Given the description of an element on the screen output the (x, y) to click on. 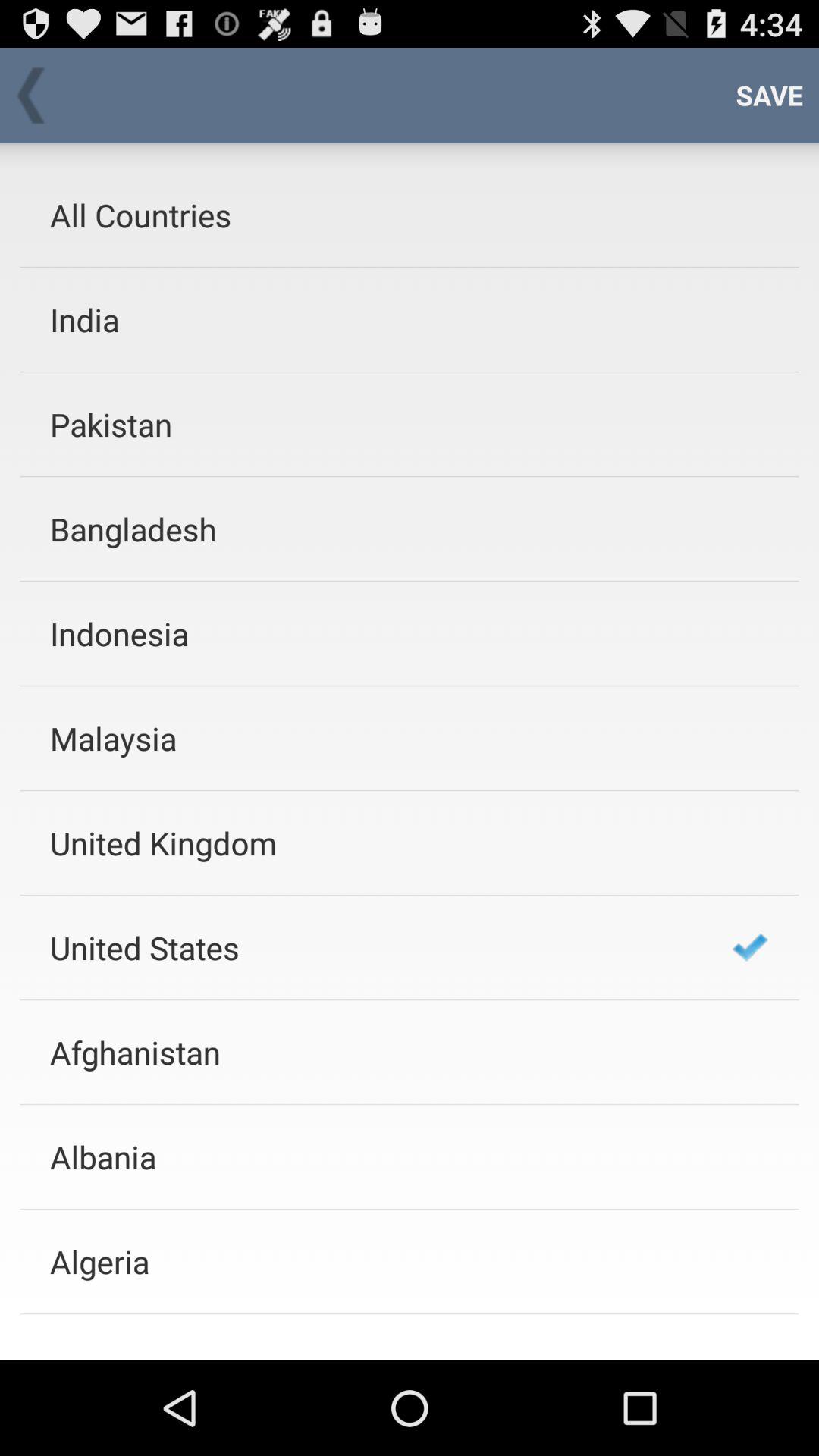
launch algeria (371, 1261)
